Given the description of an element on the screen output the (x, y) to click on. 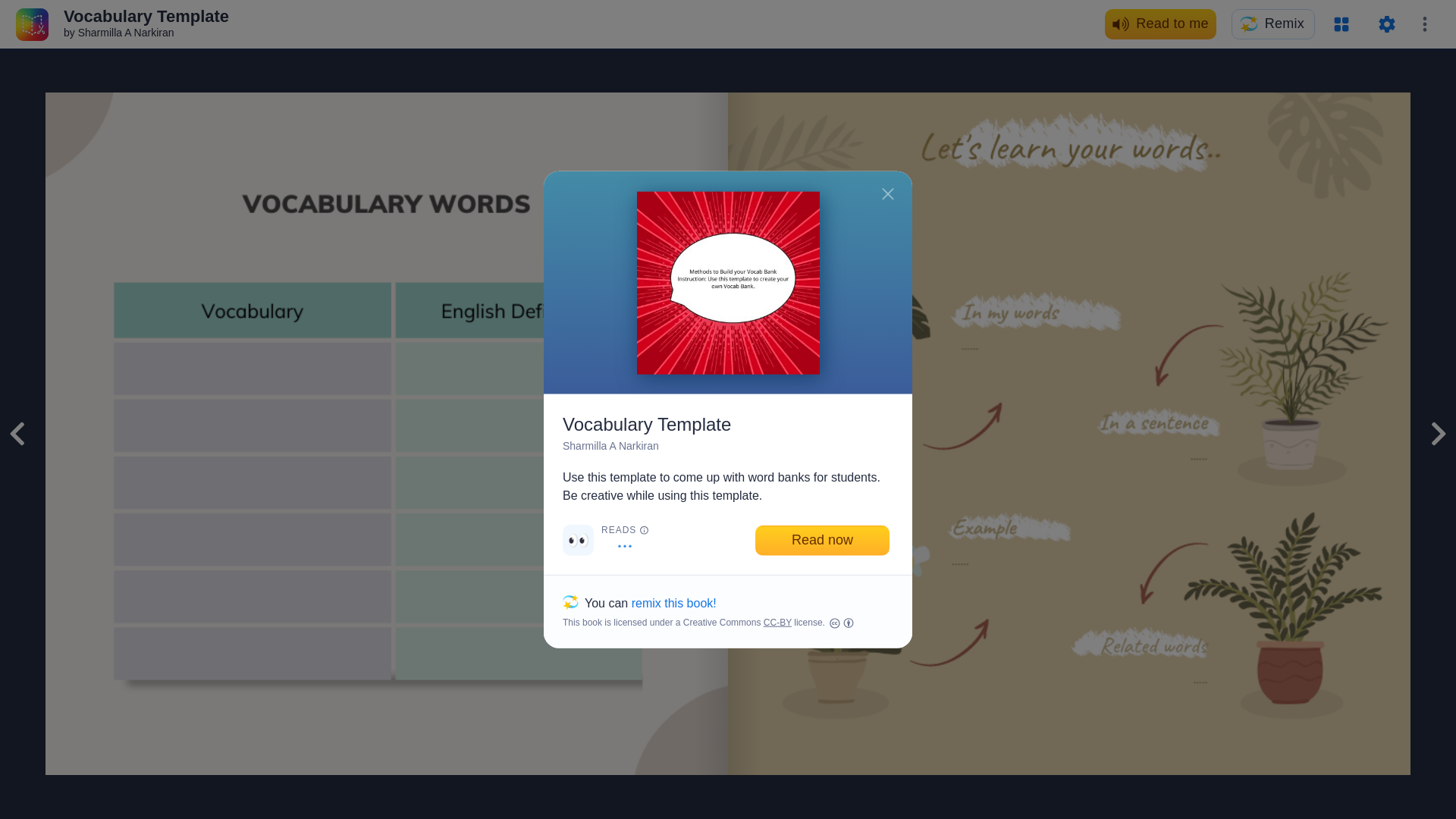
Book Creator (32, 23)
Pages (1341, 24)
CC-BY (777, 622)
Read now (822, 539)
Read again (1058, 444)
Remix (1272, 24)
Settings (1386, 24)
Book Creator (1018, 490)
Read to me (1160, 24)
remix this book! (673, 602)
